Given the description of an element on the screen output the (x, y) to click on. 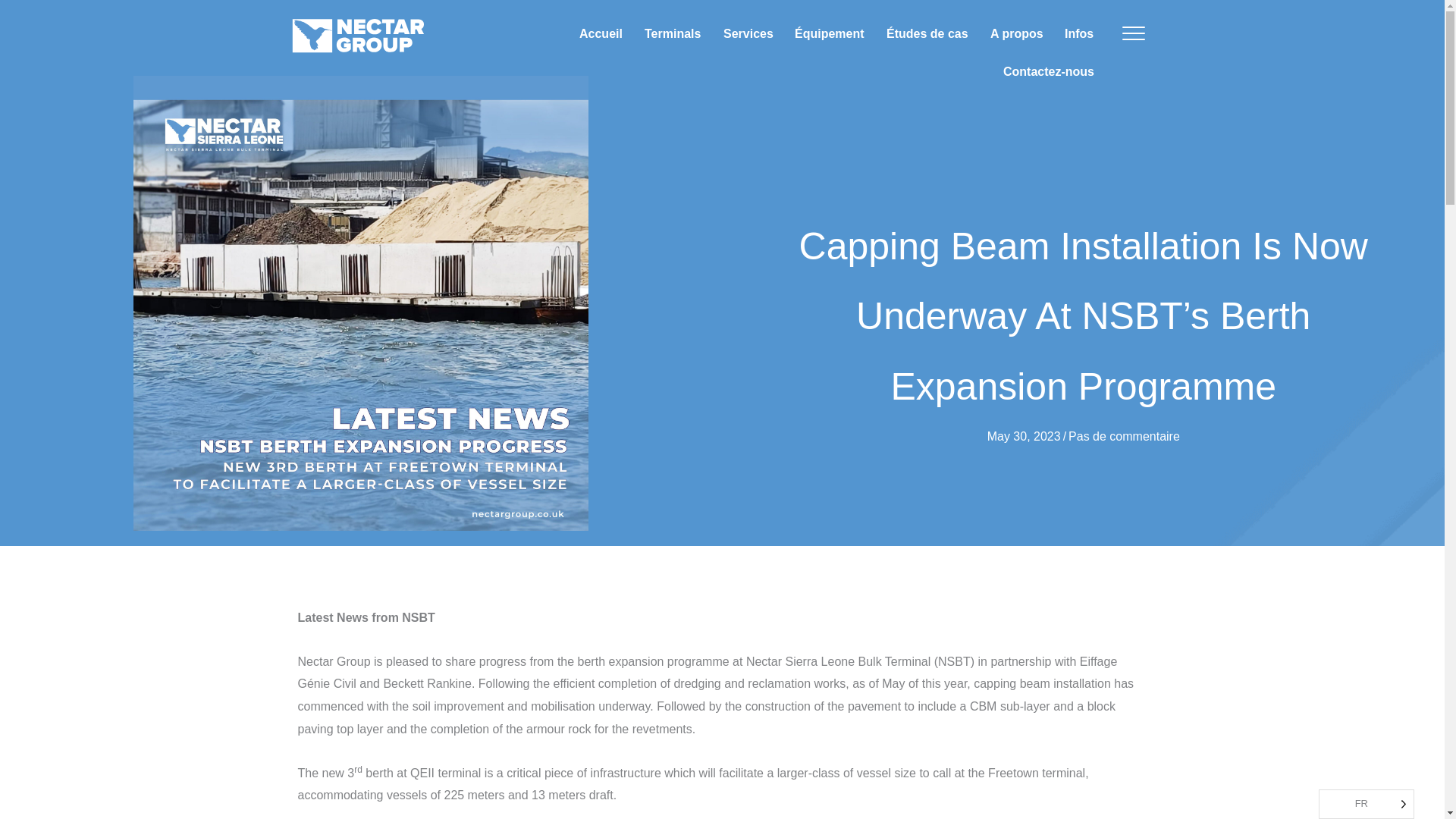
Terminals (672, 34)
Accueil (601, 34)
Pas de commentaire (1123, 436)
Services (748, 34)
Infos (1078, 34)
Contactez-nous (1047, 71)
Nectar Group (358, 34)
A propos (1016, 34)
